Given the description of an element on the screen output the (x, y) to click on. 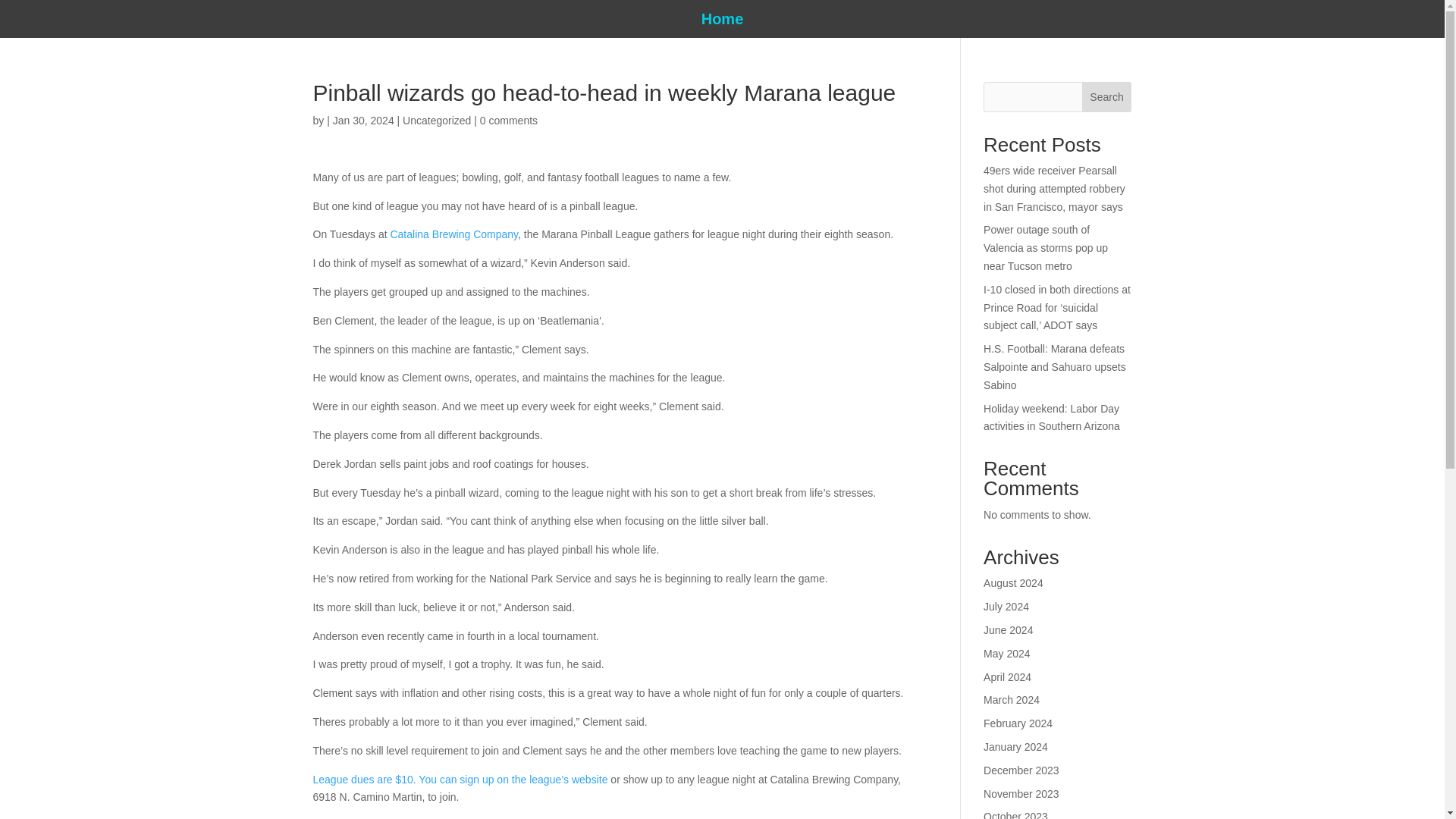
0 comments (508, 120)
December 2023 (1021, 770)
Home (722, 21)
November 2023 (1021, 793)
Search (1106, 96)
August 2024 (1013, 582)
Holiday weekend: Labor Day activities in Southern Arizona (1051, 417)
May 2024 (1006, 653)
